Given the description of an element on the screen output the (x, y) to click on. 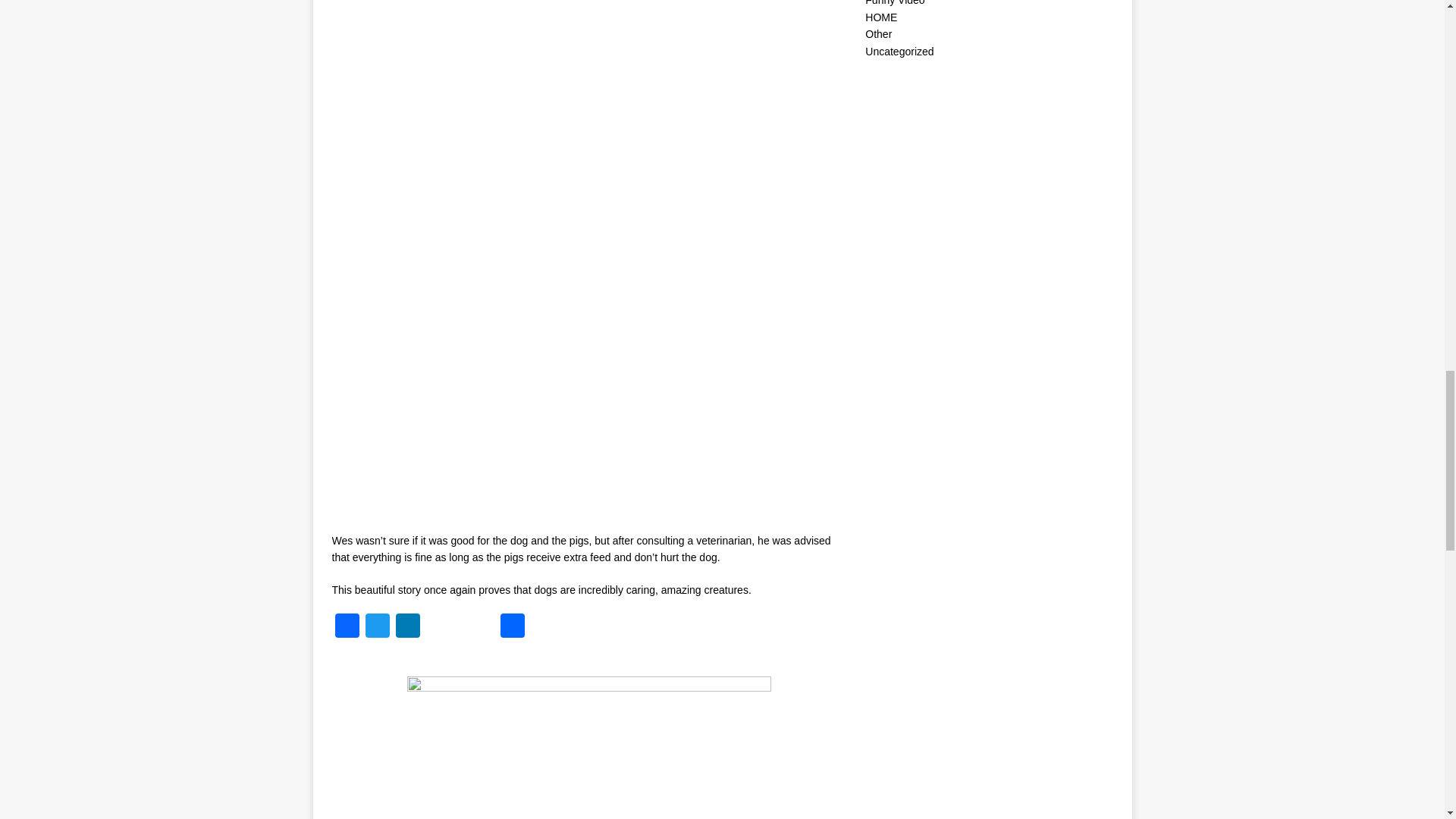
Twitter (377, 627)
LinkedIn (408, 627)
Facebook (346, 627)
LinkedIn (408, 627)
Share (512, 627)
Facebook (346, 627)
Twitter (377, 627)
